Given the description of an element on the screen output the (x, y) to click on. 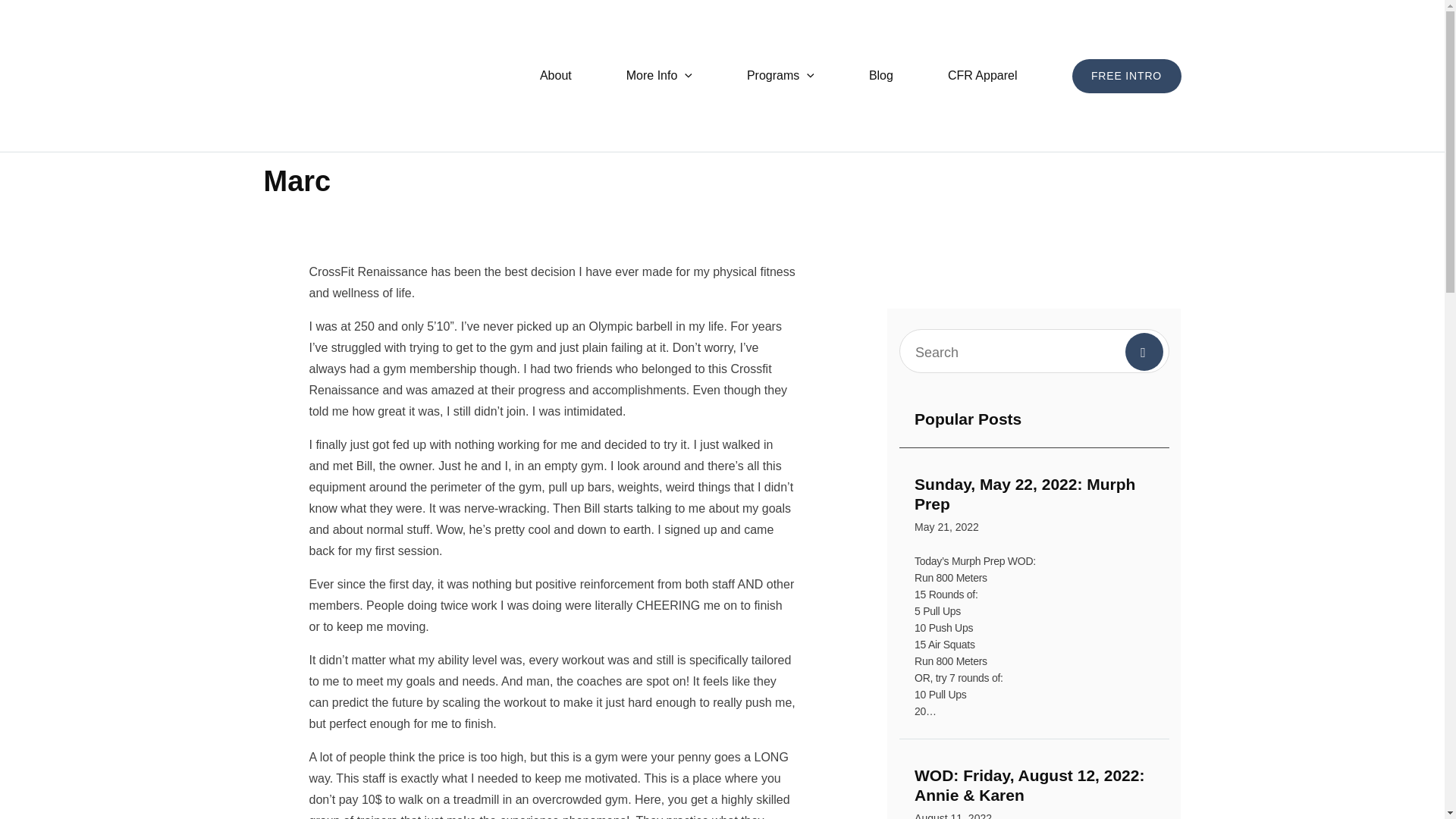
Blog (1034, 507)
View all posts by Jessica Thomas (880, 75)
Programs (346, 217)
FREE INTRO (780, 75)
About (1125, 75)
CFR Apparel (555, 75)
More Info (982, 75)
Jessica Thomas (658, 75)
